Given the description of an element on the screen output the (x, y) to click on. 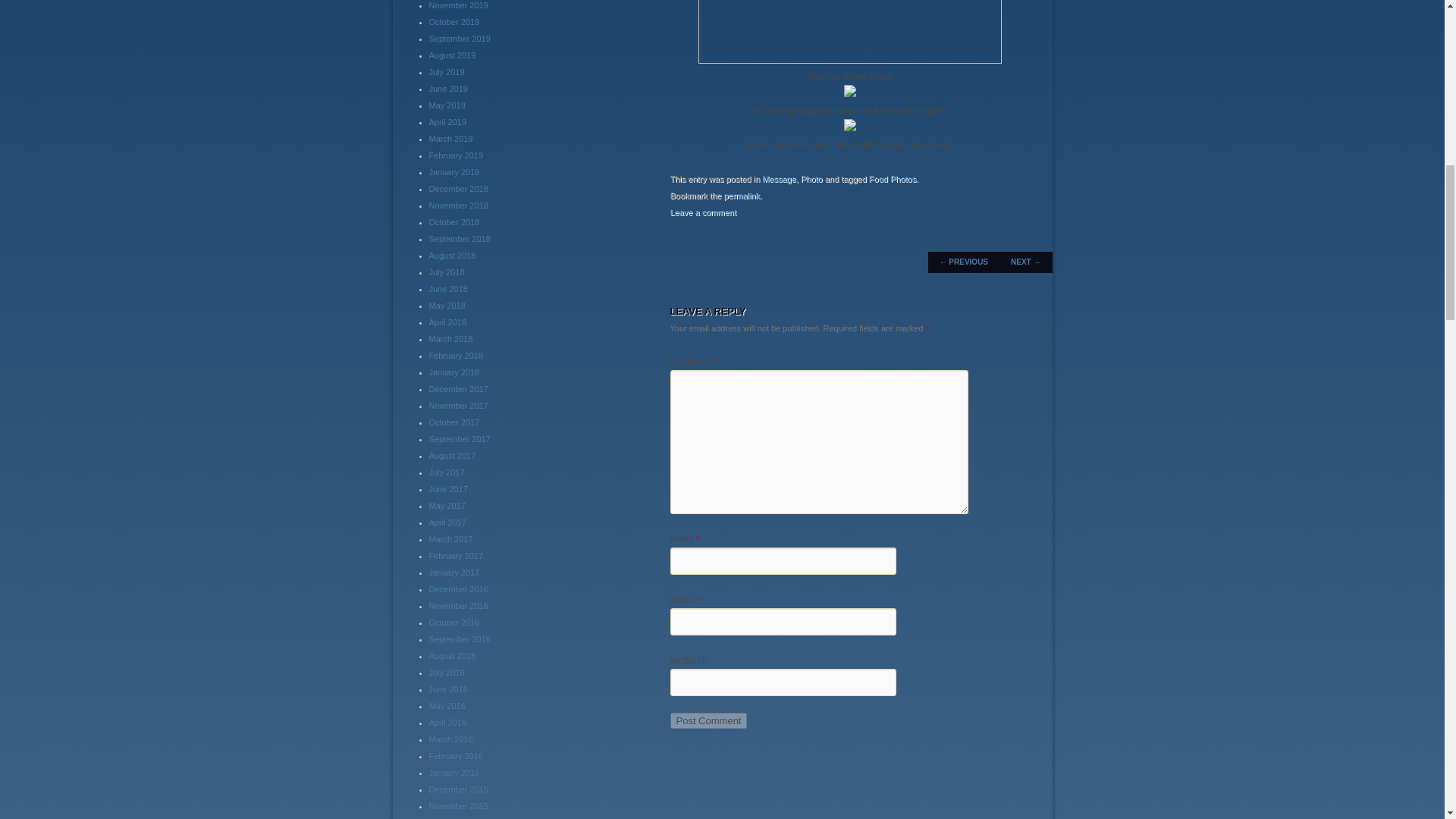
Leave a comment (702, 212)
Permalink to A Wrinkle In Time (741, 194)
Post Comment (708, 720)
November 2019 (458, 4)
Photo (811, 178)
Message (778, 178)
permalink (741, 194)
Food Photos (892, 178)
Post Comment (708, 720)
